Given the description of an element on the screen output the (x, y) to click on. 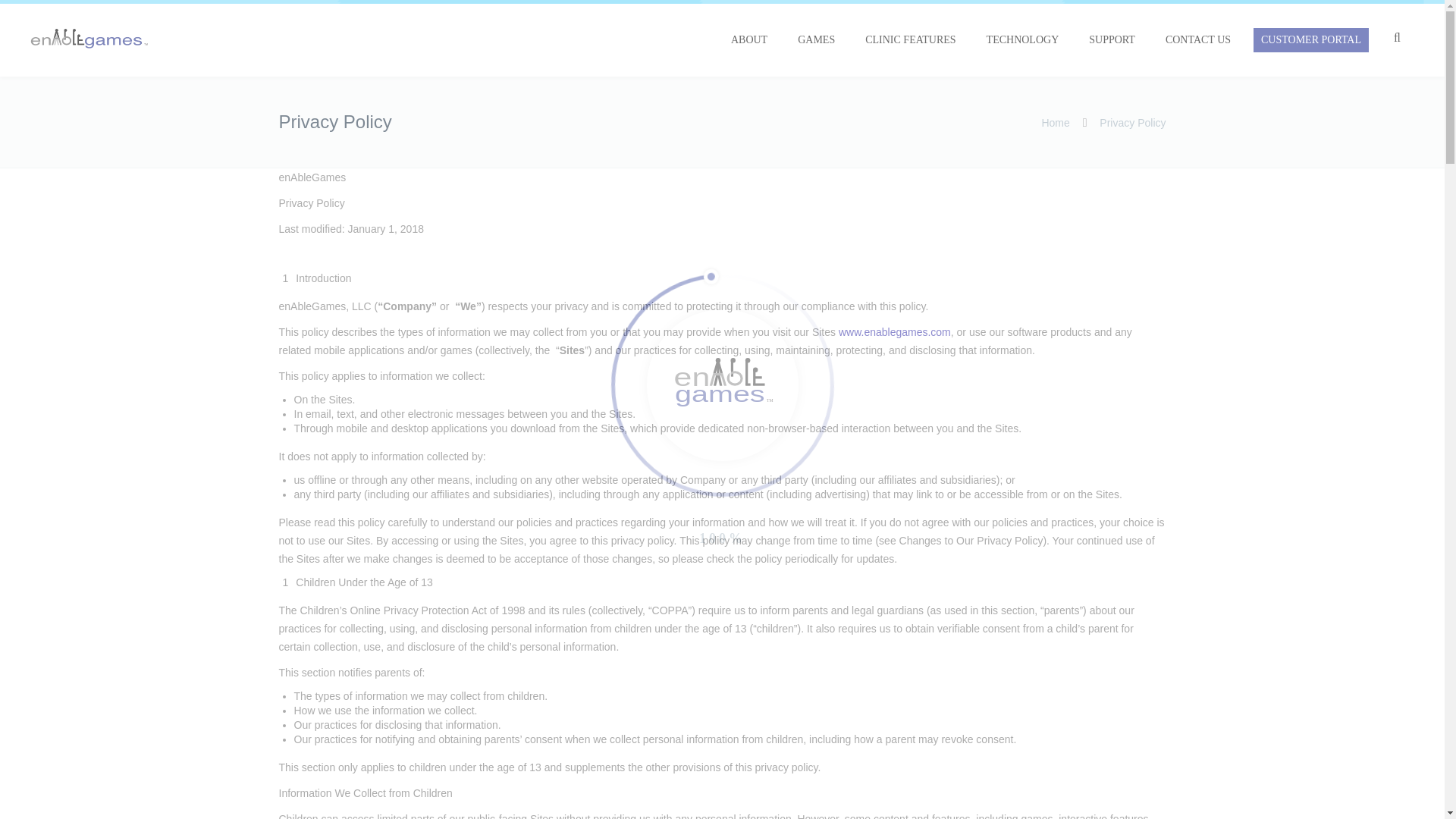
www.enablegames.com (894, 331)
GAMES (816, 39)
enAble Games (89, 38)
CLINIC FEATURES (909, 39)
ABOUT (748, 39)
TECHNOLOGY (1022, 39)
CUSTOMER PORTAL (1310, 39)
SUPPORT (1111, 39)
Home (1054, 122)
CONTACT US (1198, 39)
